Given the description of an element on the screen output the (x, y) to click on. 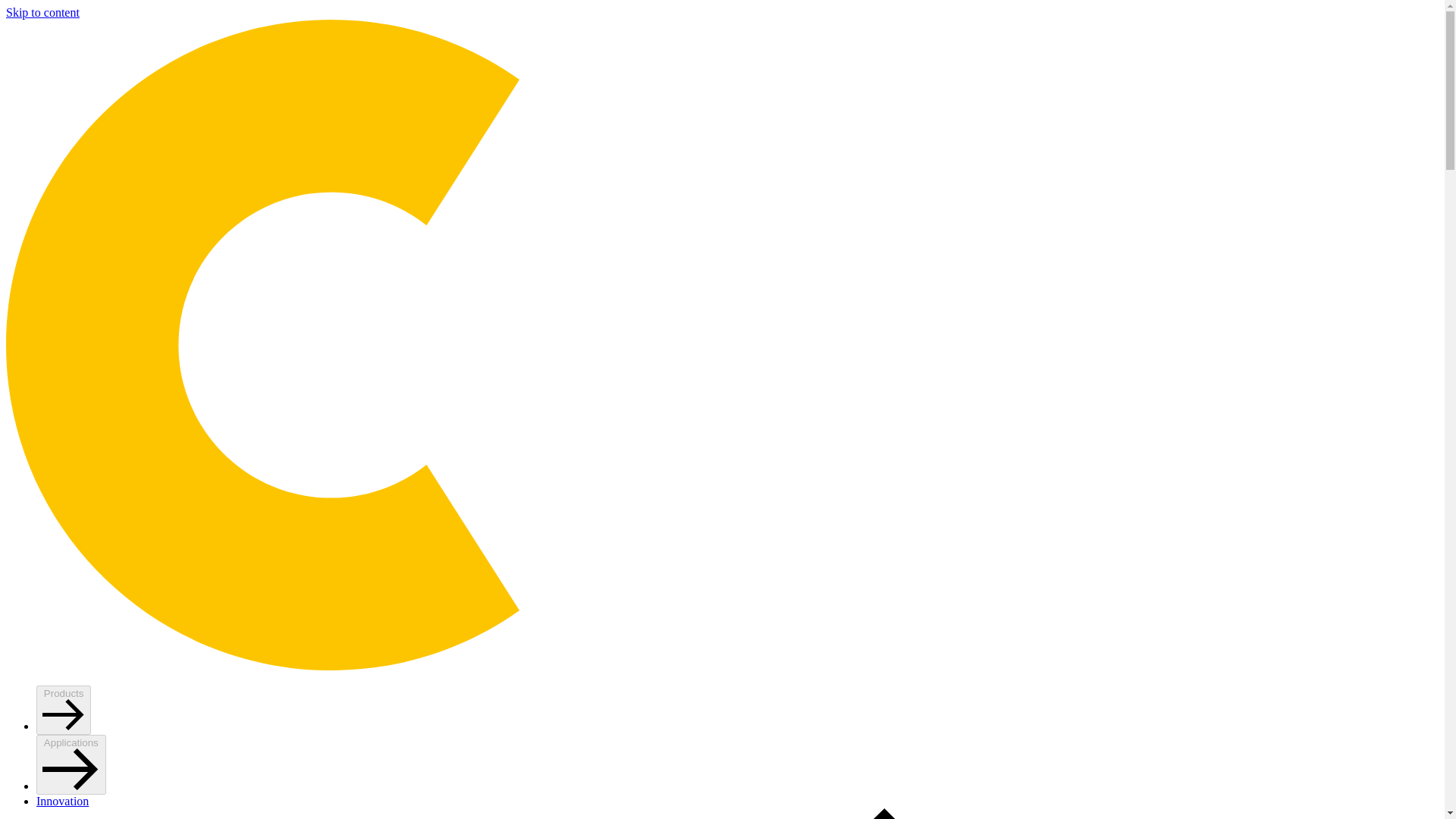
Applications (71, 764)
Skip to content (42, 11)
Products (63, 709)
